Given the description of an element on the screen output the (x, y) to click on. 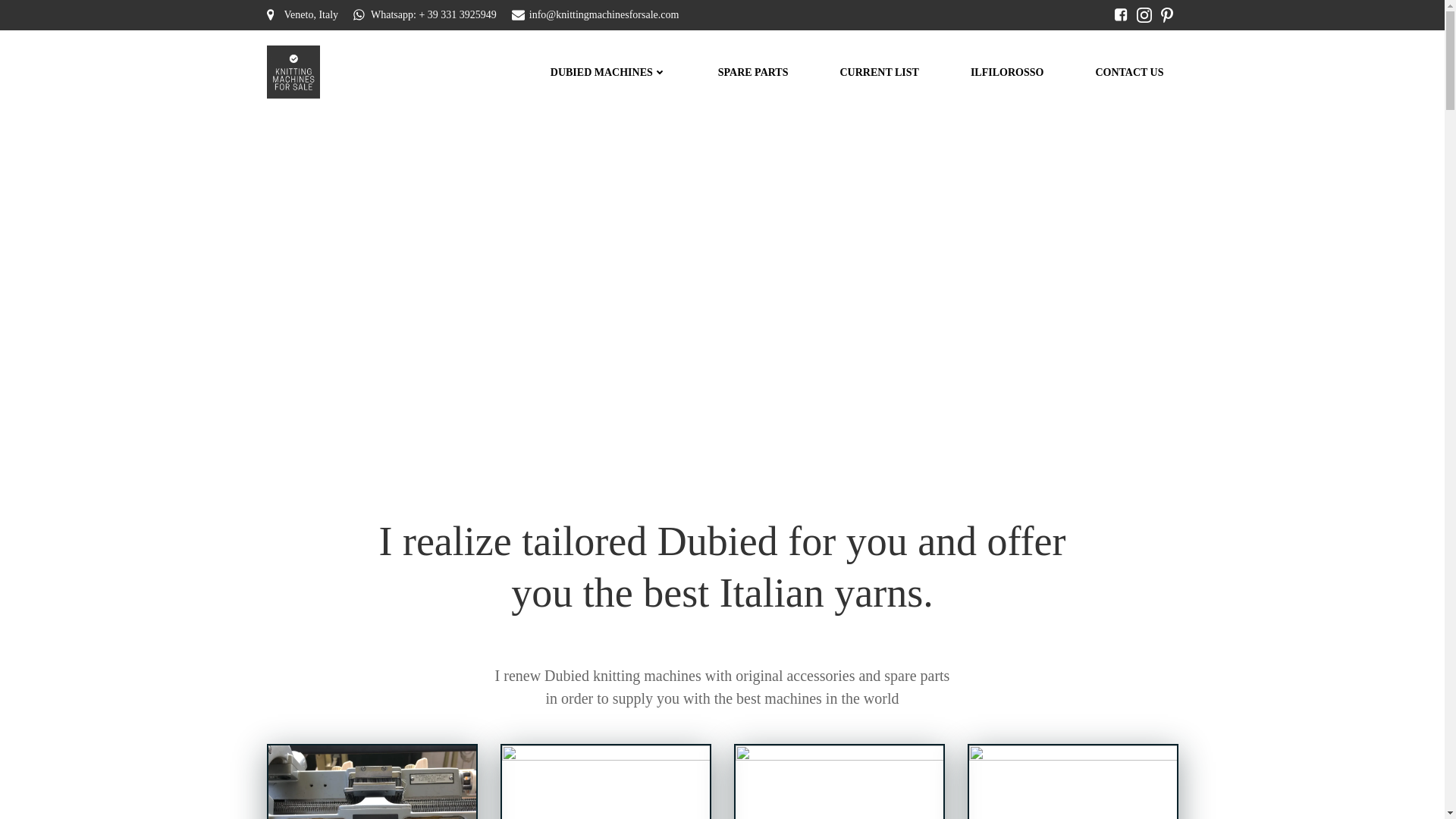
SPARE PARTS (753, 71)
DUBIED MACHINES (608, 71)
CONTACT US (1128, 71)
ILFILOROSSO (1007, 71)
CURRENT LIST (879, 71)
